Given the description of an element on the screen output the (x, y) to click on. 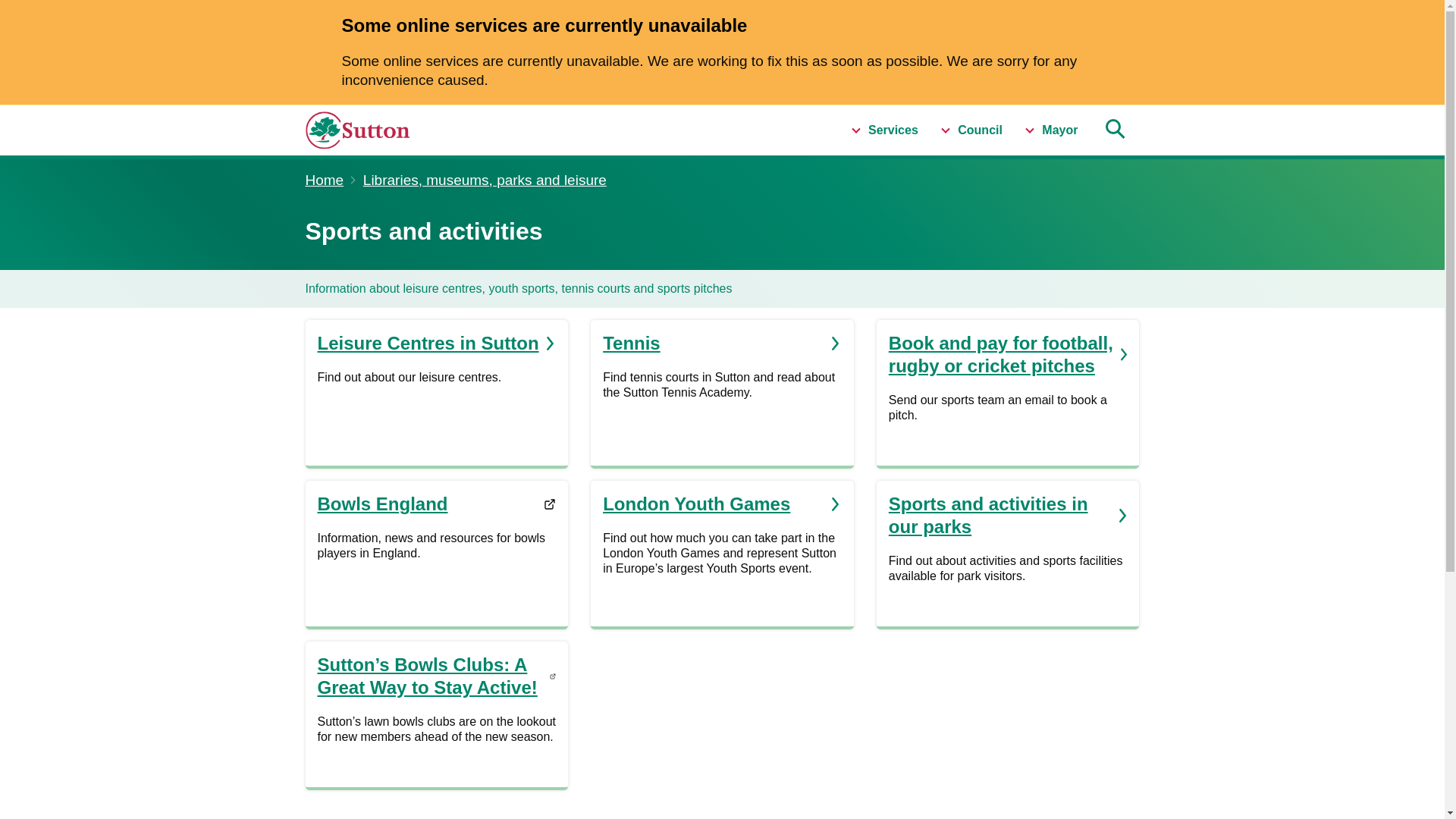
Libraries, museums, parks and leisure (484, 179)
Home (323, 179)
Services (885, 130)
Sports and activities in our parks (1007, 515)
Skip to main content (11, 112)
Tennis (721, 343)
Mayor (1051, 130)
Leisure Centres in Sutton (436, 343)
Council (971, 130)
London Youth Games (721, 504)
Book and pay for football, rugby or cricket pitches (1007, 354)
Search Sutton.gov.uk (1113, 130)
Sutton.gov.uk (387, 130)
Bowls England (436, 504)
